Given the description of an element on the screen output the (x, y) to click on. 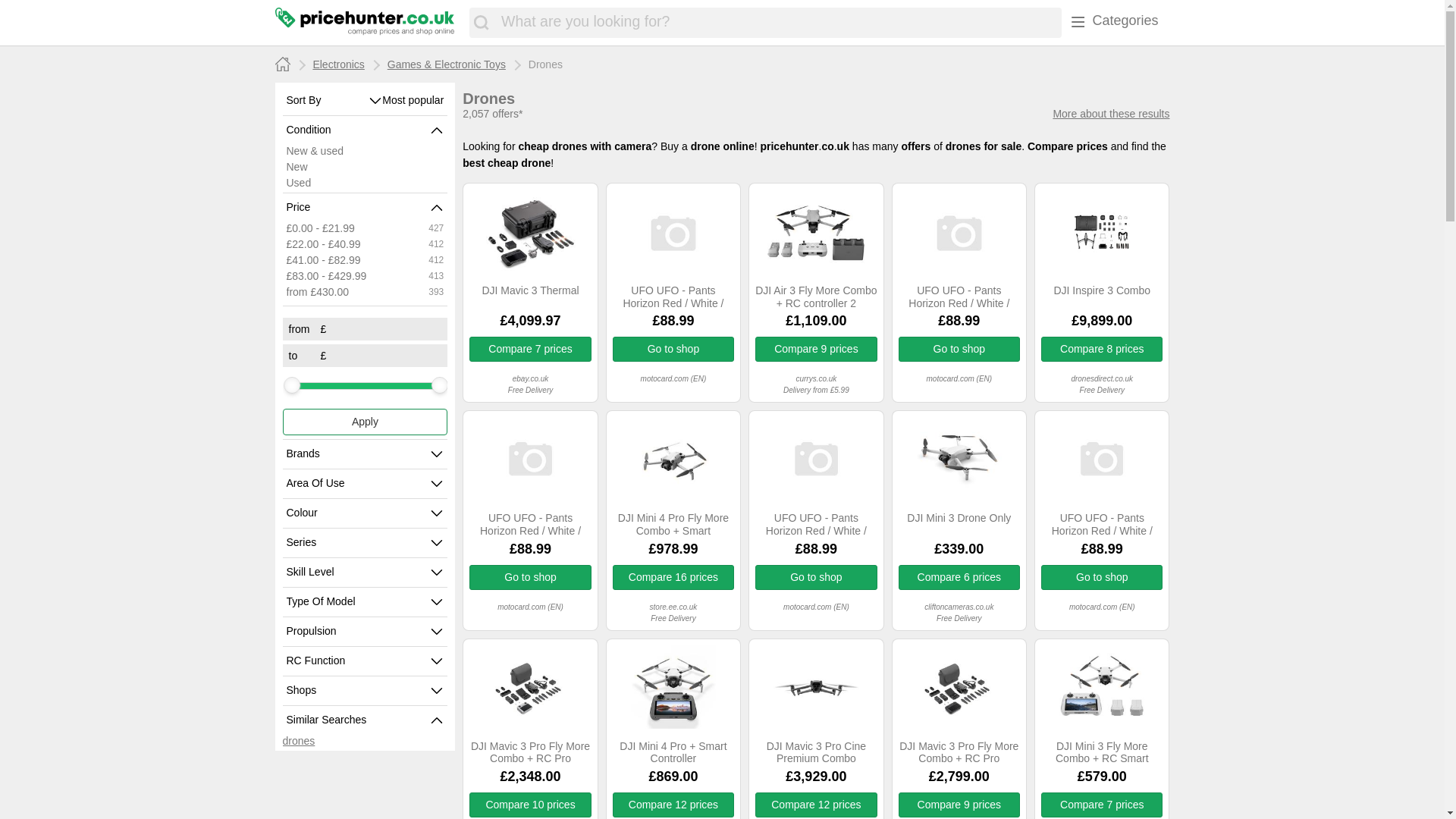
Sort by (327, 100)
Condition (358, 130)
Propulsion (358, 631)
Series (358, 542)
Brands (358, 454)
Area of Use (358, 483)
Electronics (338, 64)
Type of Model (358, 602)
Colour (358, 513)
DJI Mavic 3 Thermal (529, 297)
